Given the description of an element on the screen output the (x, y) to click on. 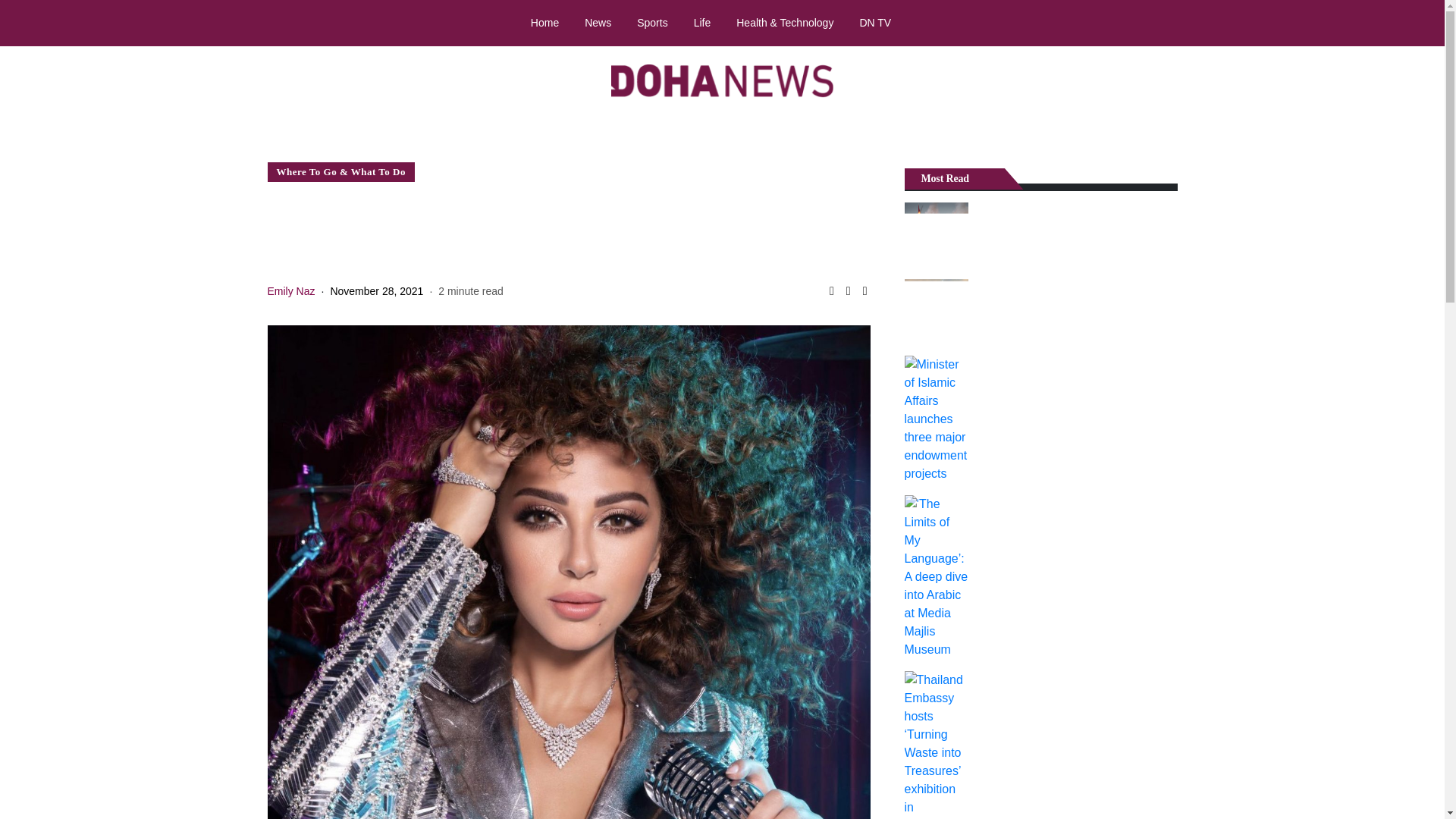
DN TV (875, 22)
Search (1417, 23)
November 28, 2021 (376, 291)
News (598, 22)
Home (545, 22)
Emily Naz (290, 291)
View all posts by Emily Naz (290, 291)
Life (702, 22)
Sports (651, 22)
